Given the description of an element on the screen output the (x, y) to click on. 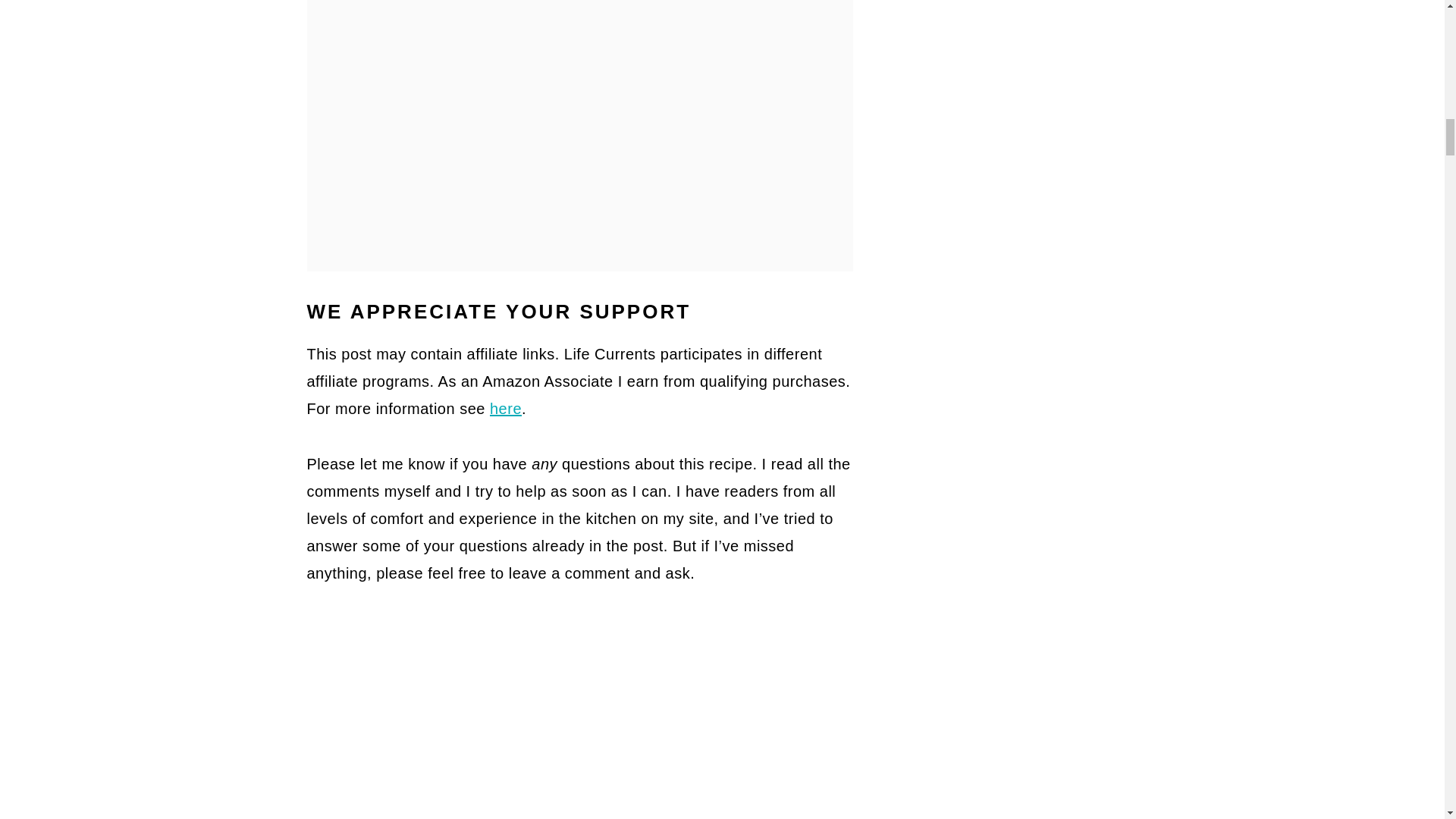
here (505, 408)
